Given the description of an element on the screen output the (x, y) to click on. 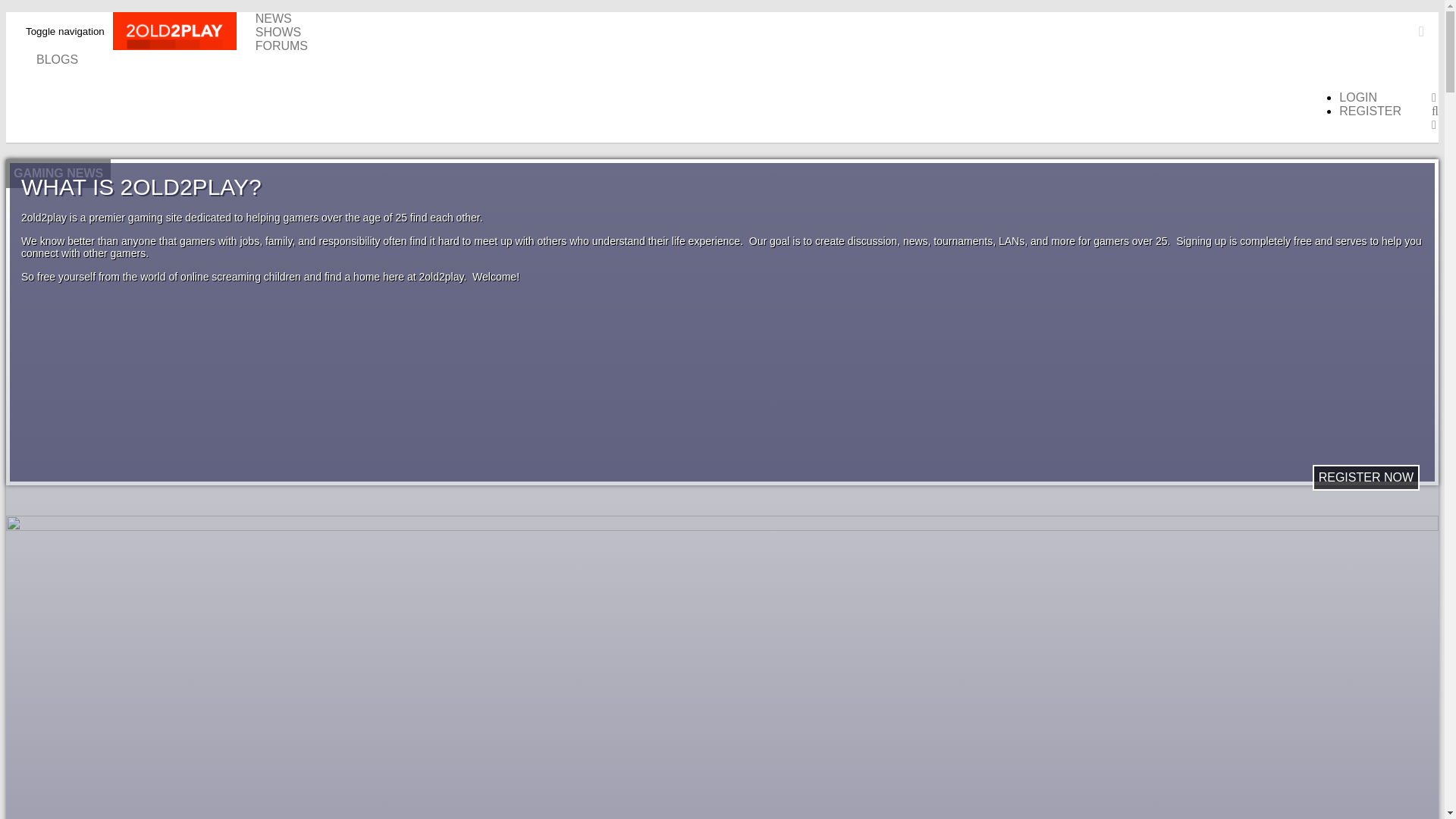
REGISTER Element type: text (1370, 110)
FORUMS Element type: text (281, 45)
LOGIN Element type: text (1358, 97)
REGISTER NOW Element type: text (1365, 476)
REGISTER NOW Element type: text (1365, 477)
BLOGS Element type: text (57, 59)
Toggle navigation Element type: text (64, 31)
SHOWS Element type: text (278, 32)
NEWS Element type: text (273, 18)
Skip to main content Element type: text (6, 12)
Home Element type: hover (183, 32)
